Given the description of an element on the screen output the (x, y) to click on. 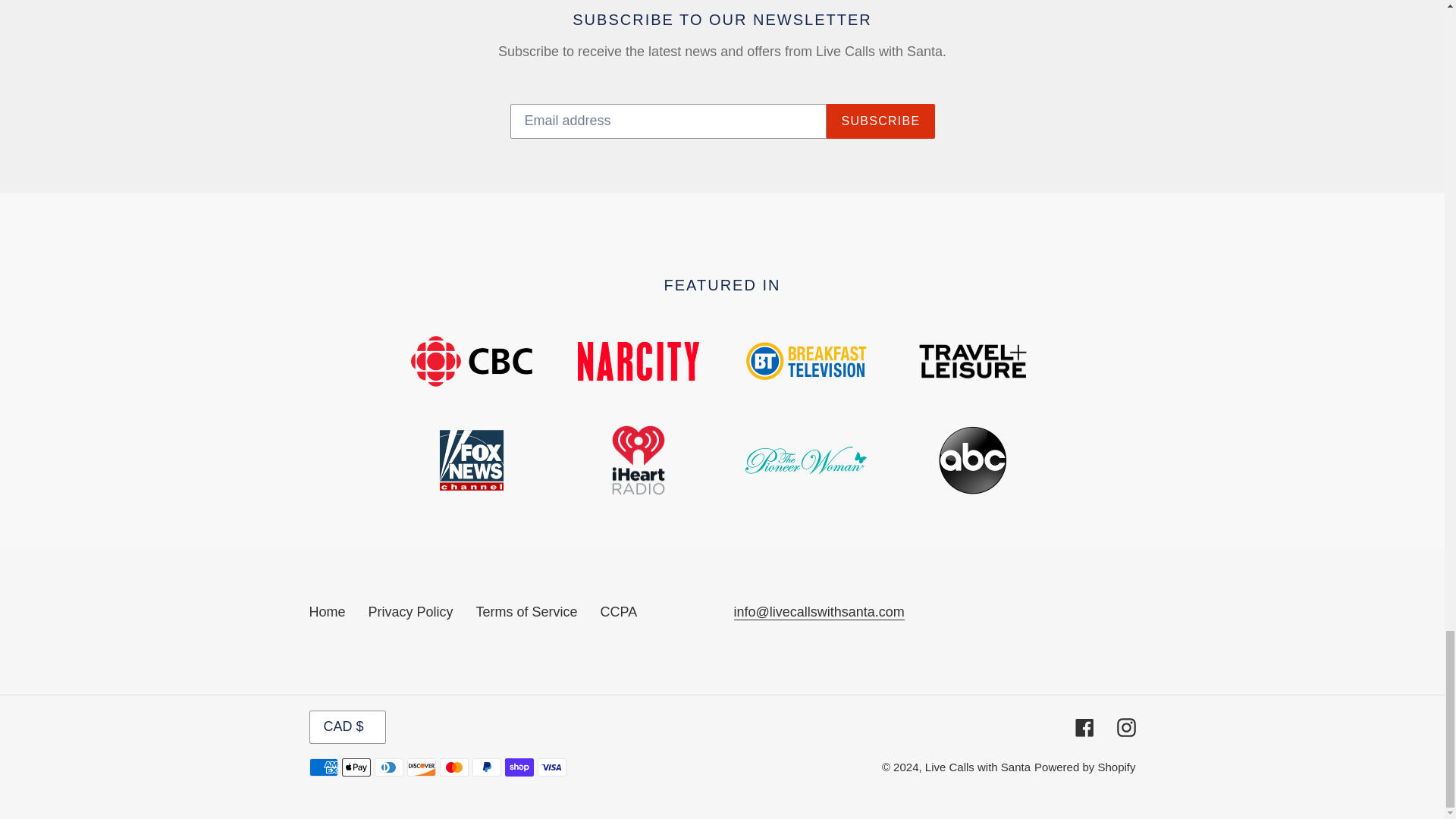
Terms of Service (527, 611)
CCPA (618, 611)
Privacy Policy (410, 611)
SUBSCRIBE (880, 121)
Home (327, 611)
